Given the description of an element on the screen output the (x, y) to click on. 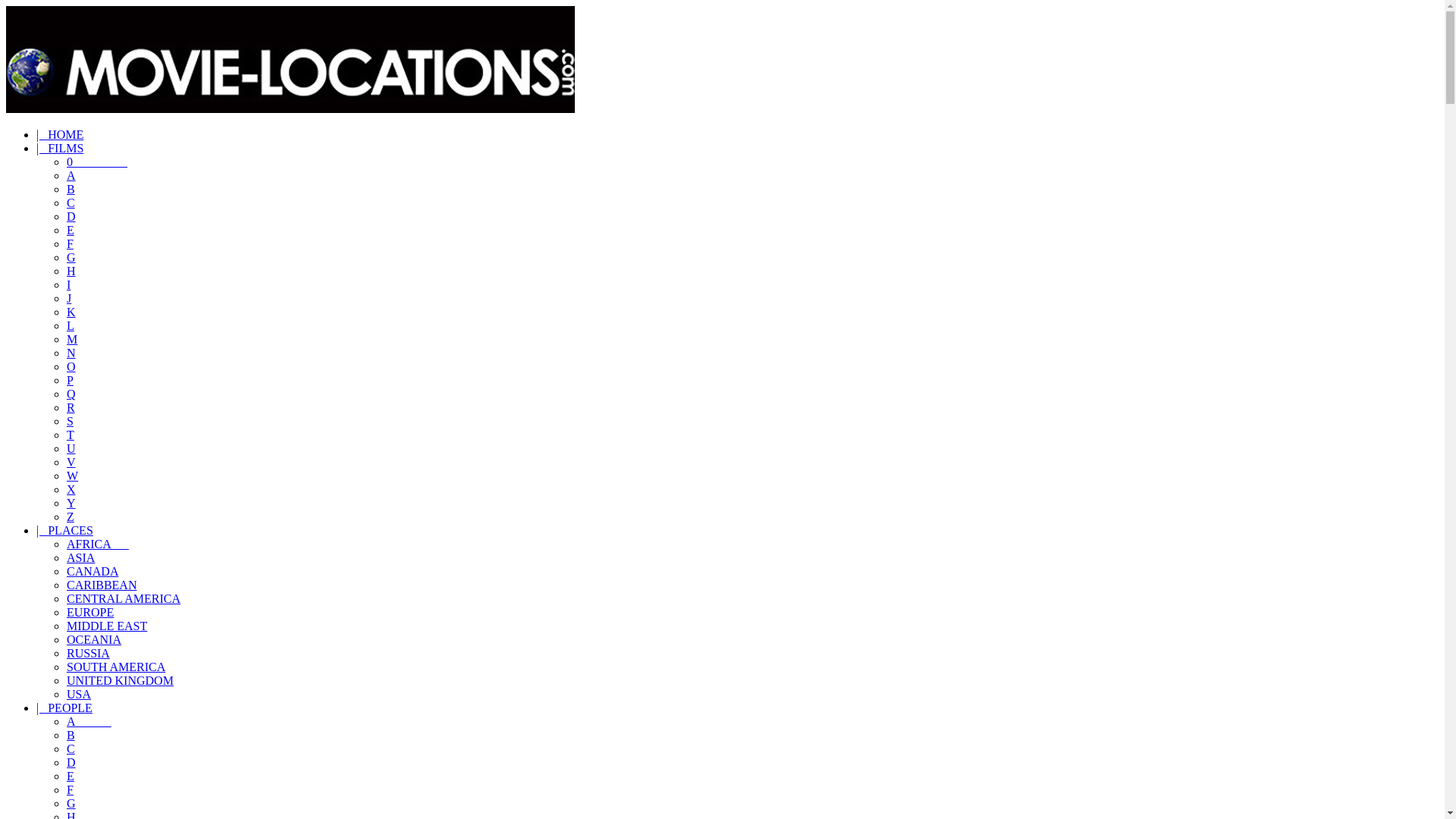
CANADA (91, 571)
ASIA (80, 557)
EUROPE (89, 612)
CENTRAL AMERICA (123, 598)
MIDDLE EAST (106, 625)
CARIBBEAN (101, 584)
0                   (97, 161)
OCEANIA (93, 639)
SOUTH AMERICA (115, 666)
AFRICA       (97, 543)
RUSSIA (88, 653)
